Given the description of an element on the screen output the (x, y) to click on. 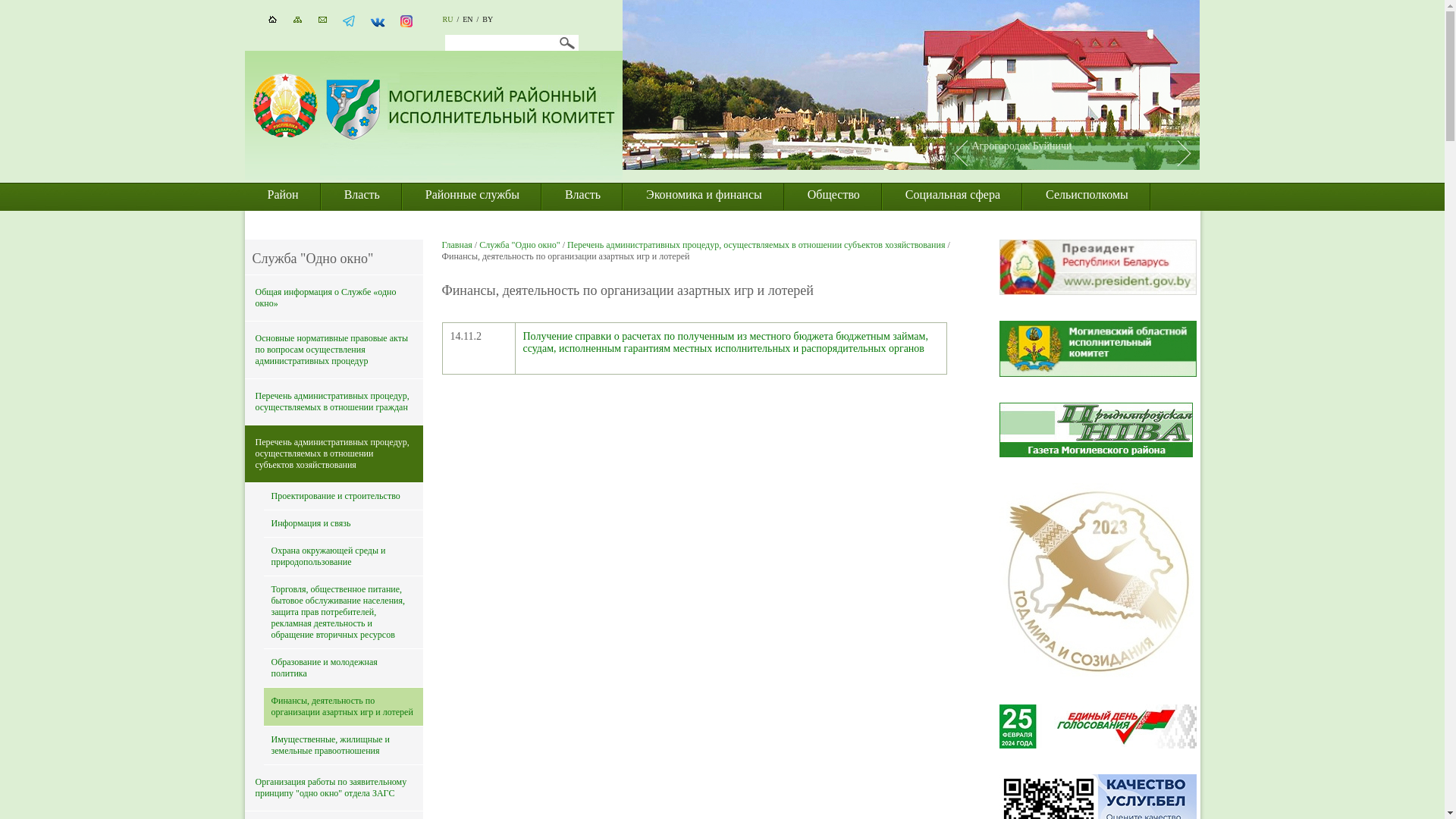
EN Element type: text (467, 19)
Prev Element type: text (955, 152)
t.me Element type: hover (348, 23)
Instagram Element type: hover (406, 23)
BY Element type: text (487, 19)
Next Element type: text (1187, 152)
vk Element type: hover (377, 26)
